Given the description of an element on the screen output the (x, y) to click on. 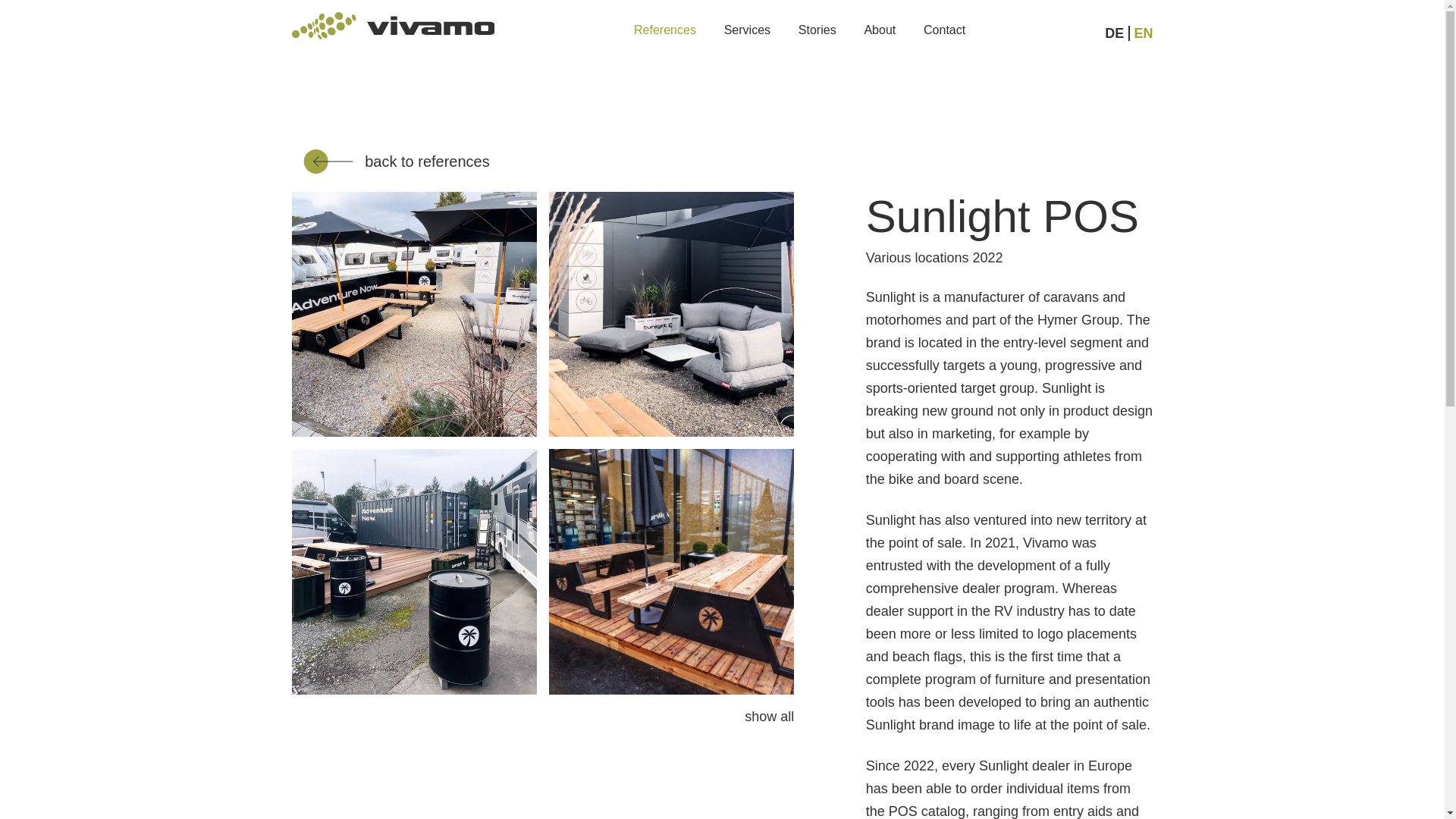
back to references (395, 161)
show all (768, 716)
EN (1143, 33)
Services (746, 29)
About (879, 29)
References (664, 29)
back to references (395, 161)
Stories (816, 29)
DE (1119, 33)
Contact (944, 29)
